Given the description of an element on the screen output the (x, y) to click on. 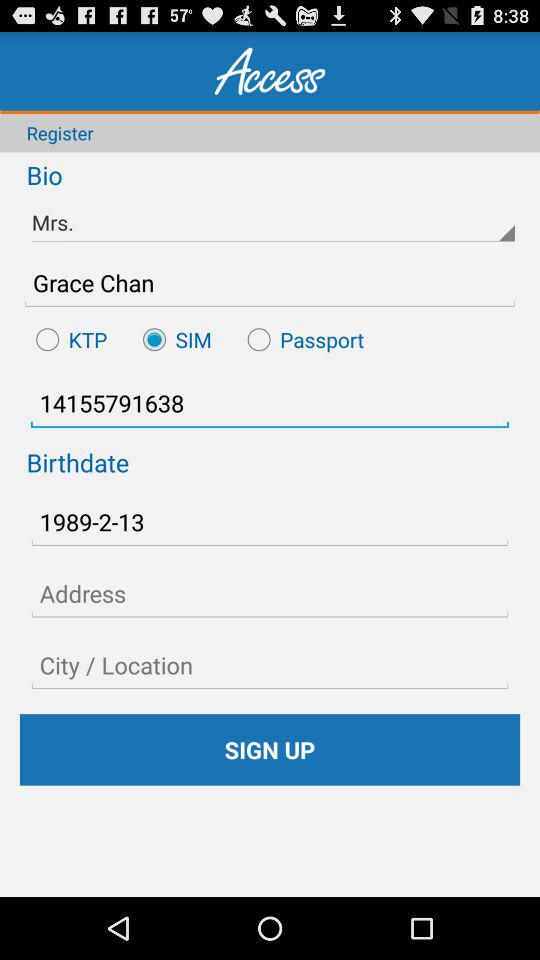
bar to enter address (269, 593)
